Given the description of an element on the screen output the (x, y) to click on. 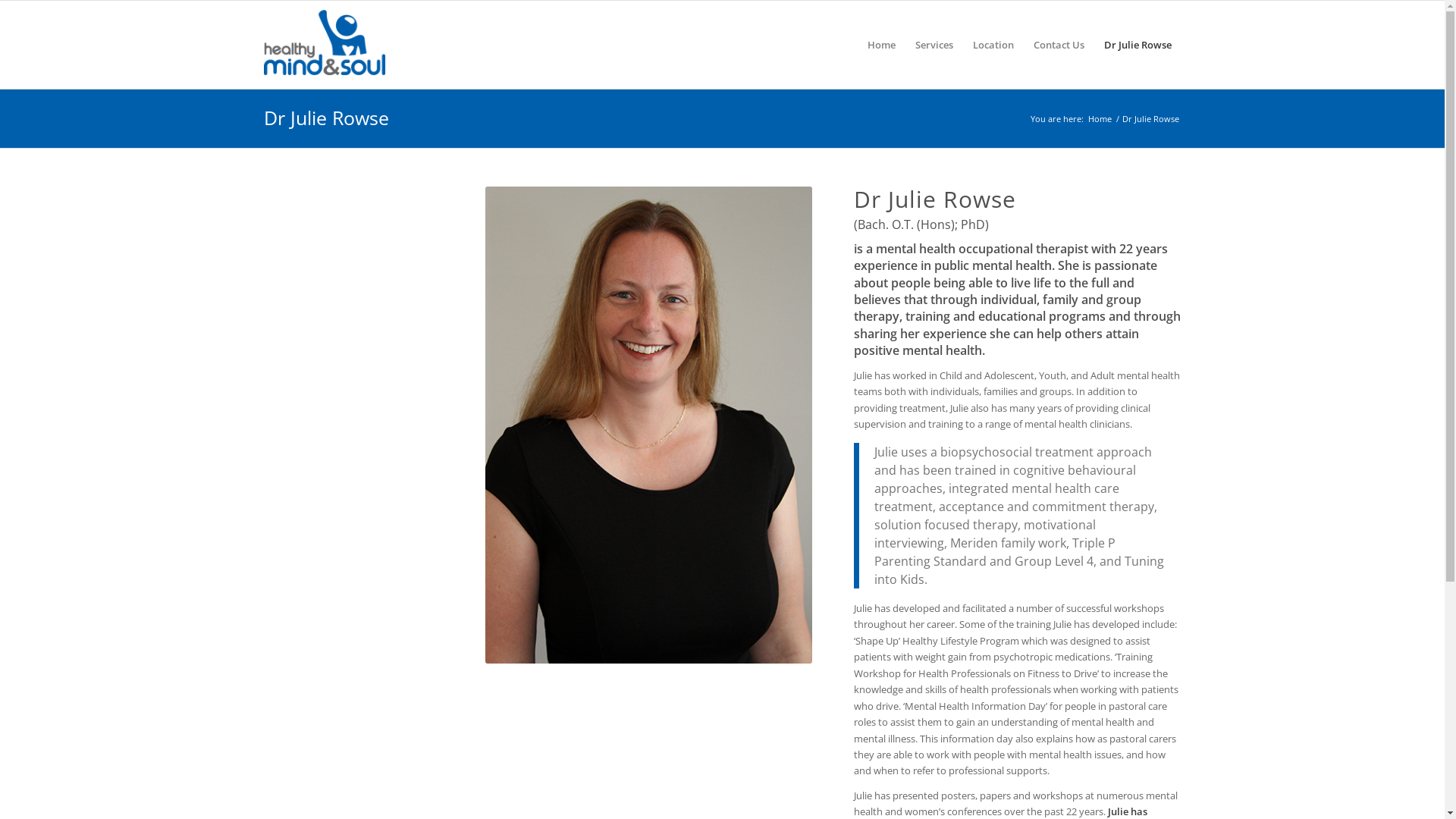
Location Element type: text (993, 44)
Home Element type: text (1099, 118)
Contact Us Element type: text (1058, 44)
Home Element type: text (880, 44)
self2 Element type: hover (648, 424)
Dr Julie Rowse Element type: text (326, 117)
Dr Julie Rowse Element type: text (1136, 44)
Services Element type: text (934, 44)
